Given the description of an element on the screen output the (x, y) to click on. 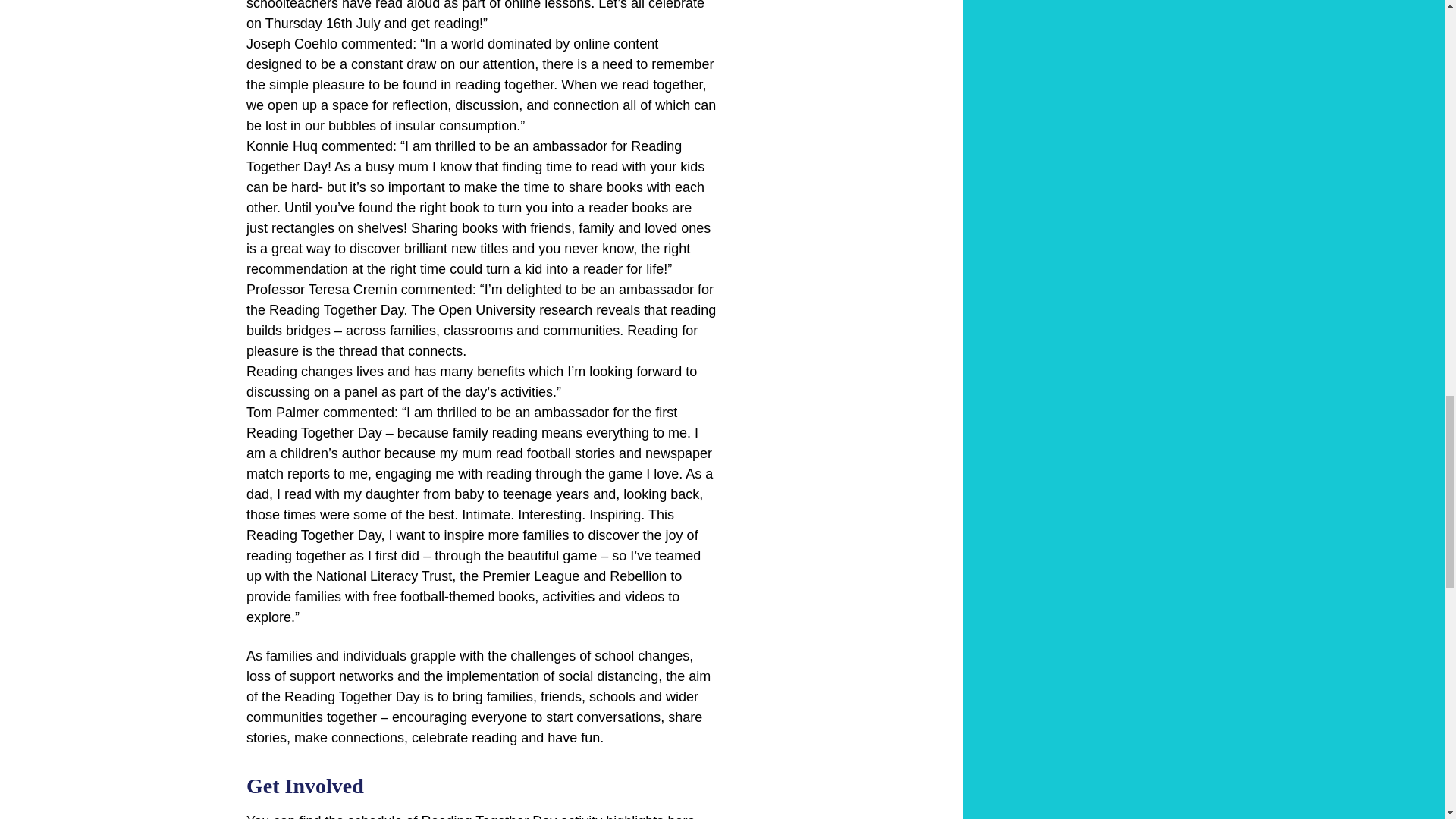
here (680, 816)
